Given the description of an element on the screen output the (x, y) to click on. 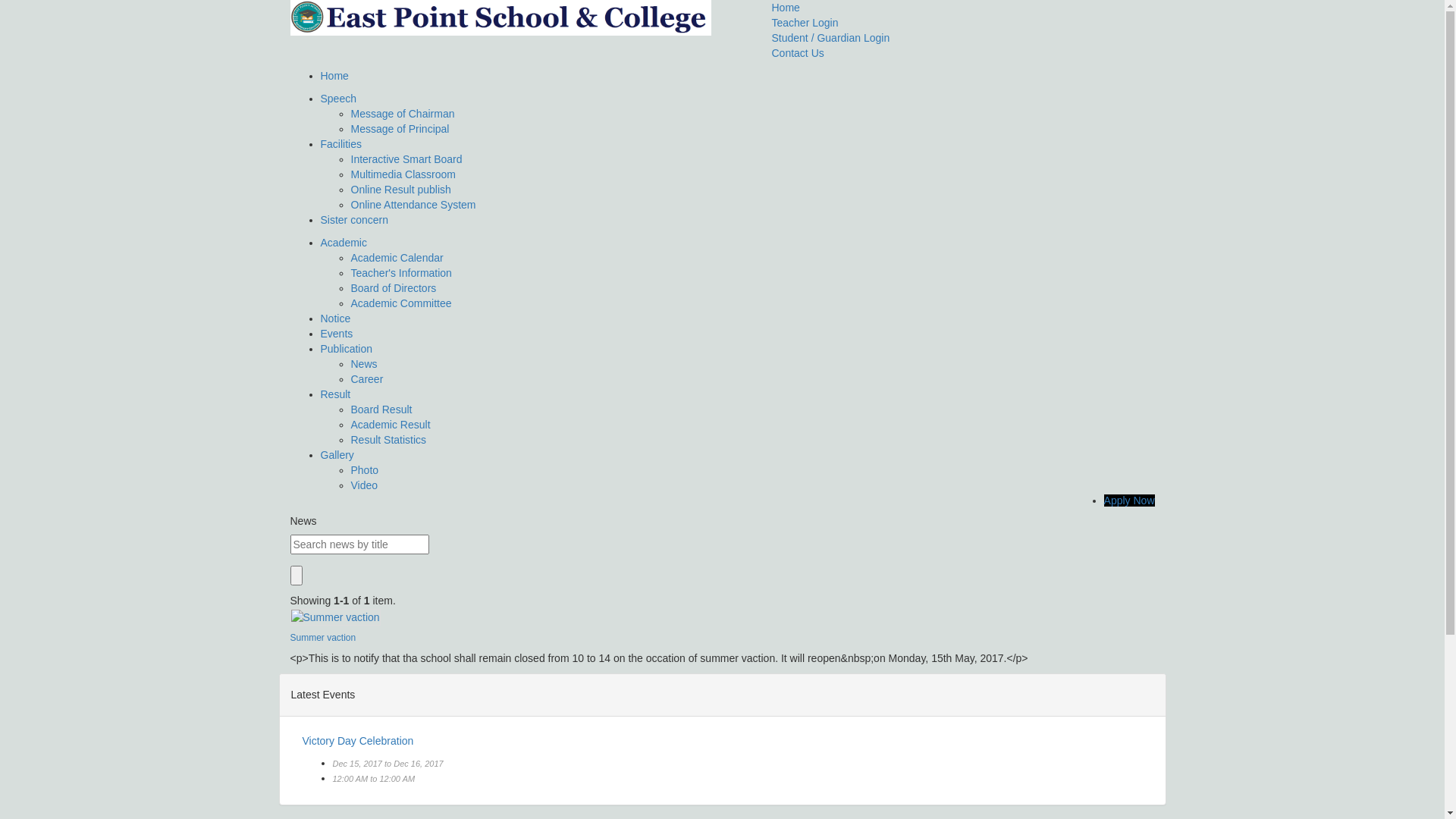
Interactive Smart Board Element type: text (405, 159)
Apply Now Element type: text (1129, 500)
Result Statistics Element type: text (388, 439)
Victory Day Celebration Element type: text (357, 740)
Summer vaction Element type: text (322, 637)
Academic Element type: text (343, 242)
Events Element type: text (336, 333)
Message of Chairman Element type: text (402, 113)
Multimedia Classroom Element type: text (402, 174)
Notice Element type: text (335, 318)
Publication Element type: text (346, 348)
Contact Us Element type: text (797, 52)
Online Attendance System Element type: text (412, 204)
Facilities Element type: text (340, 144)
Academic Result Element type: text (389, 424)
Video Element type: text (363, 485)
Gallery Element type: text (336, 454)
Board of Directors Element type: text (393, 288)
Sister concern Element type: text (353, 219)
Career Element type: text (366, 379)
Speech Element type: text (337, 98)
Teacher's Information Element type: text (400, 272)
Photo Element type: text (364, 470)
Academic Calendar Element type: text (396, 257)
Result Element type: text (335, 394)
Home Element type: text (334, 75)
Teacher Login Element type: text (805, 22)
Message of Principal Element type: text (399, 128)
Board Result Element type: text (380, 409)
Academic Committee Element type: text (400, 303)
Online Result publish Element type: text (400, 189)
News Element type: text (363, 363)
Student / Guardian Login Element type: text (830, 37)
